Given the description of an element on the screen output the (x, y) to click on. 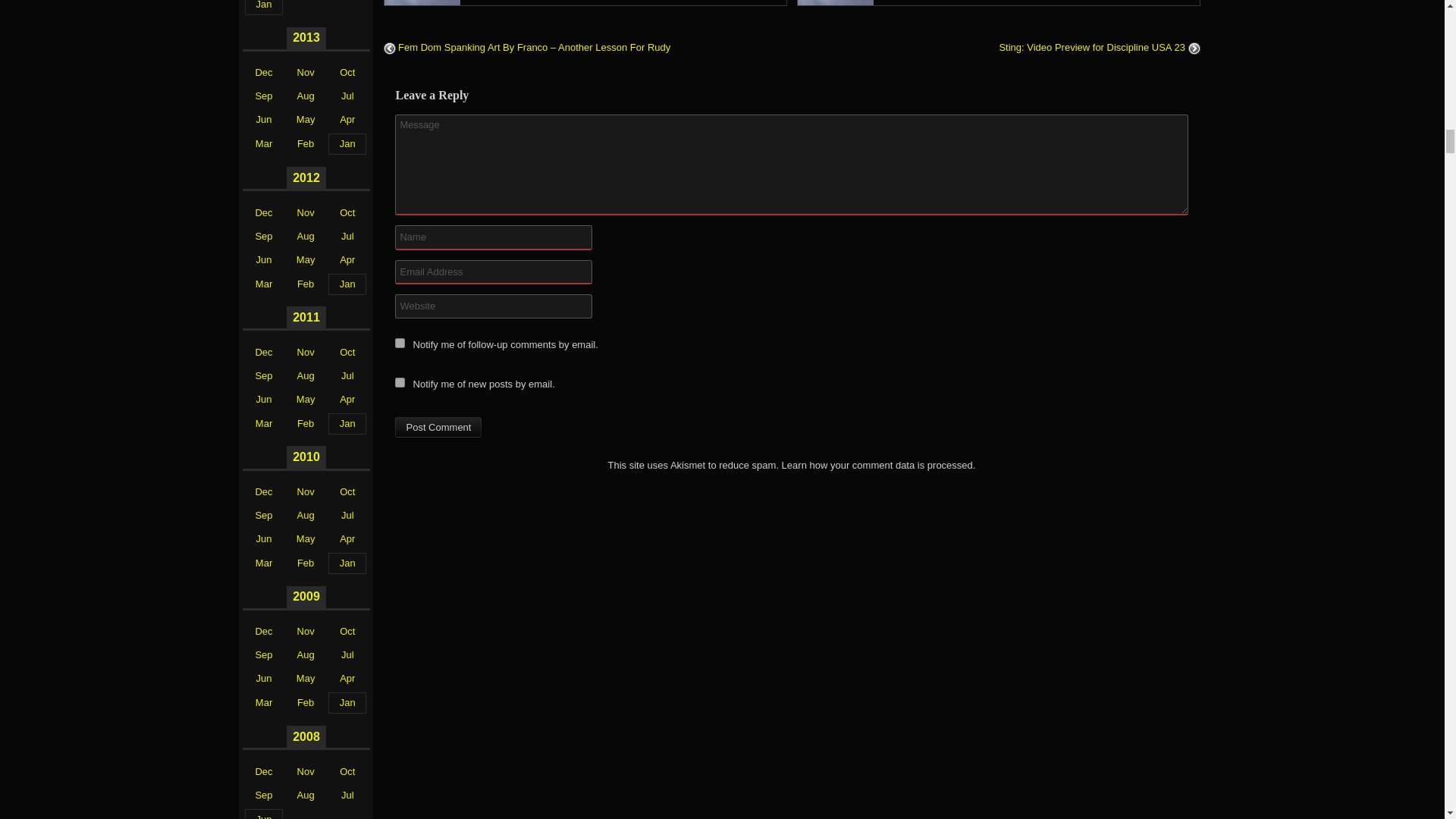
Post Comment (437, 427)
Post Comment (437, 427)
subscribe (399, 382)
Sting: Video Preview for Discipline USA 23 (1098, 47)
Required Your Message (791, 164)
Required Your Name (493, 237)
subscribe (399, 343)
Learn how your comment data is processed (876, 464)
Required Your Email (493, 272)
